Given the description of an element on the screen output the (x, y) to click on. 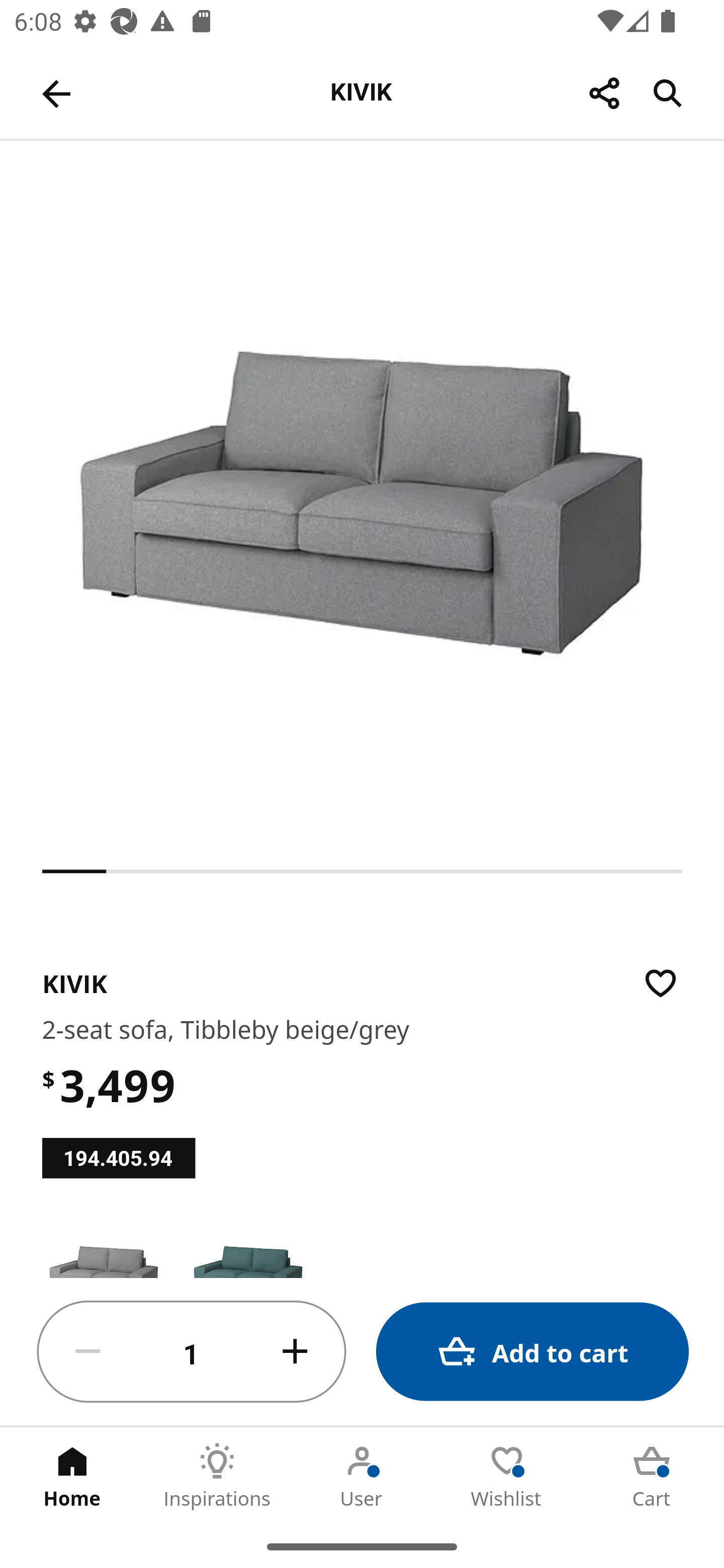
Add to cart (531, 1352)
1 (191, 1352)
Home
Tab 1 of 5 (72, 1476)
Inspirations
Tab 2 of 5 (216, 1476)
User
Tab 3 of 5 (361, 1476)
Wishlist
Tab 4 of 5 (506, 1476)
Cart
Tab 5 of 5 (651, 1476)
